Given the description of an element on the screen output the (x, y) to click on. 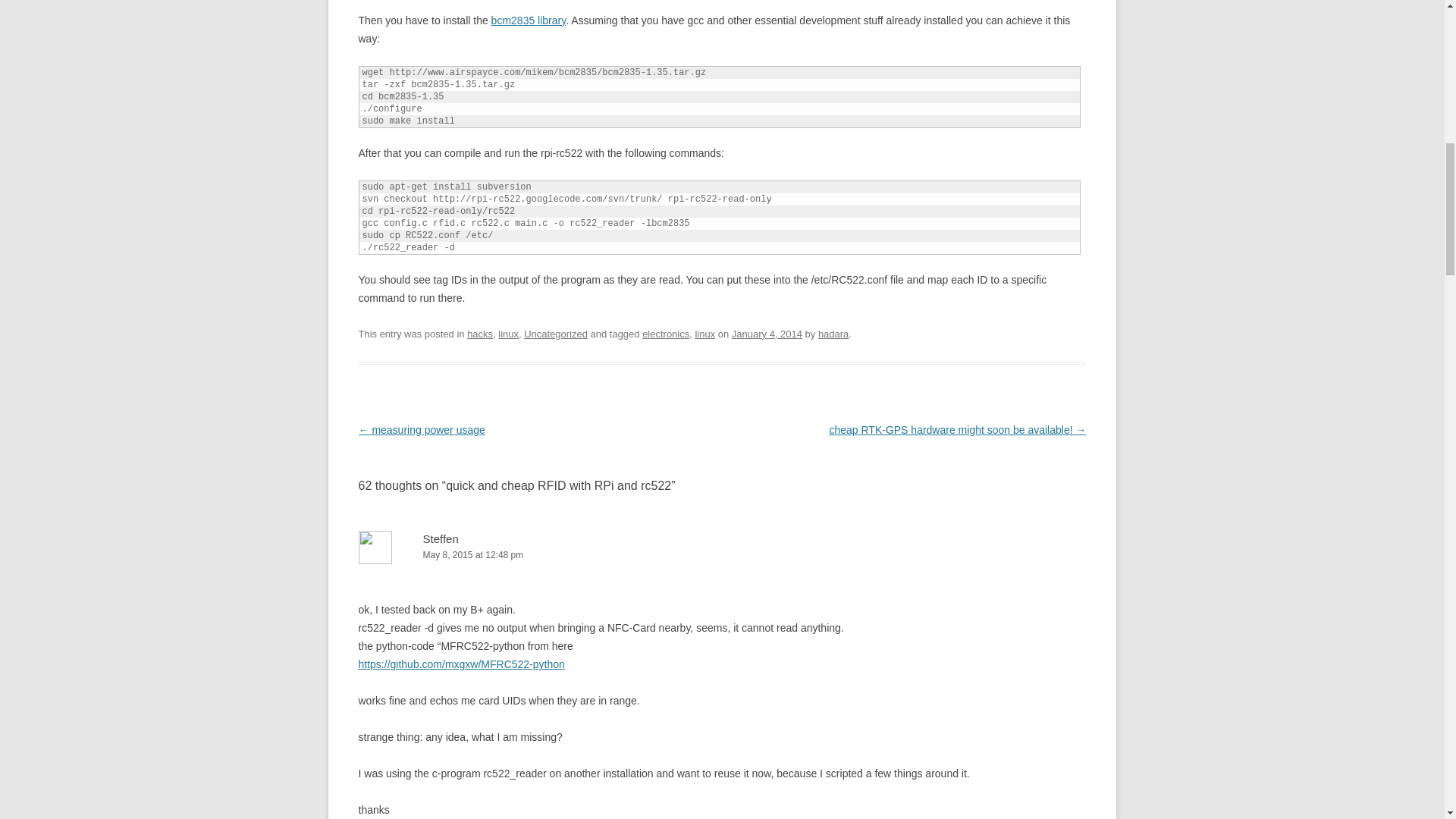
linux (704, 333)
electronics (665, 333)
hadara (833, 333)
Uncategorized (556, 333)
5:01 pm (767, 333)
bcm2835 library (529, 20)
View all posts by hadara (833, 333)
linux (507, 333)
hacks (480, 333)
May 8, 2015 at 12:48 pm (722, 555)
